Given the description of an element on the screen output the (x, y) to click on. 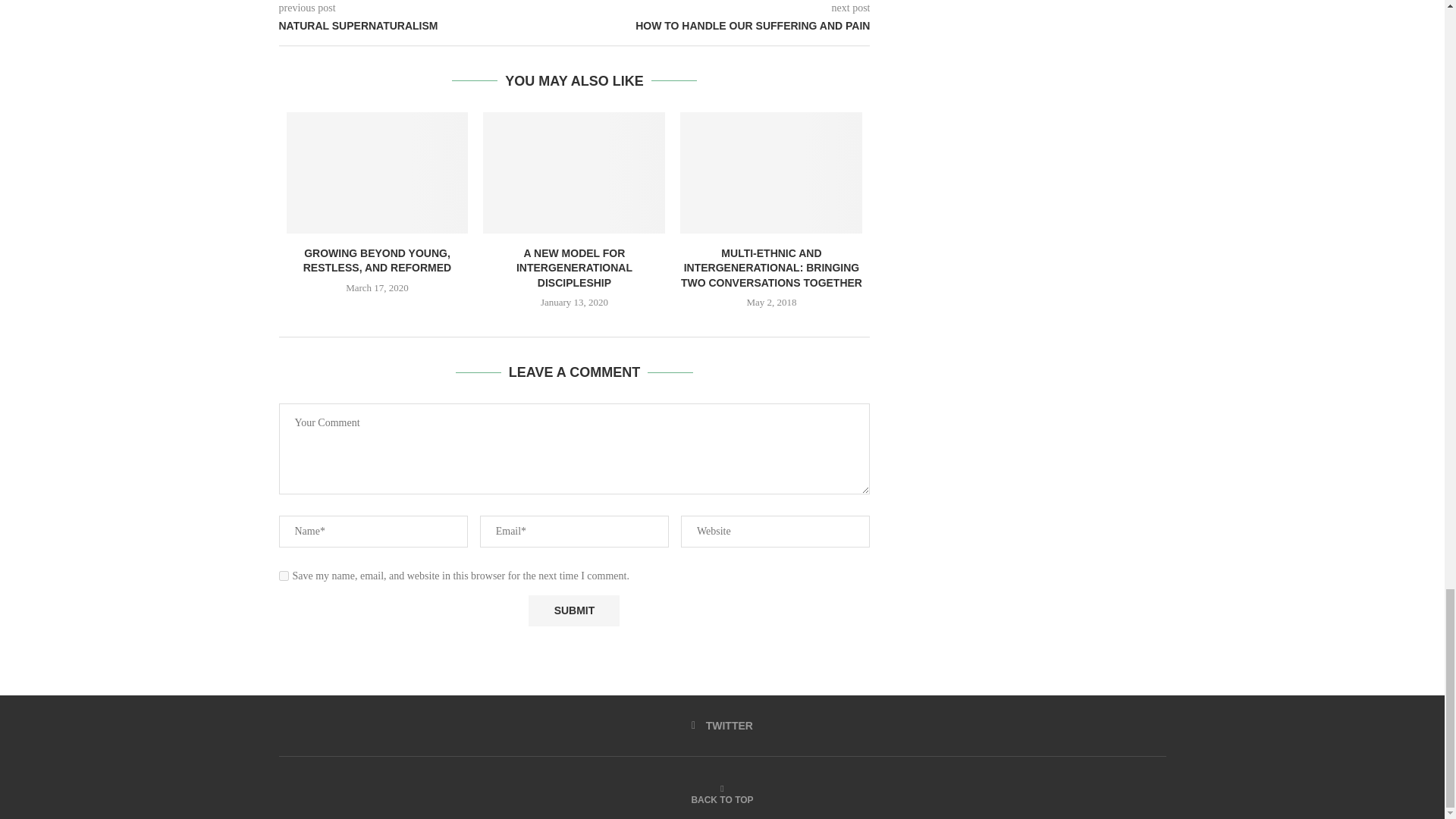
A New Model for Intergenerational Discipleship (574, 172)
Growing Beyond Young, Restless, and Reformed (377, 172)
yes (283, 575)
Submit (574, 610)
